Given the description of an element on the screen output the (x, y) to click on. 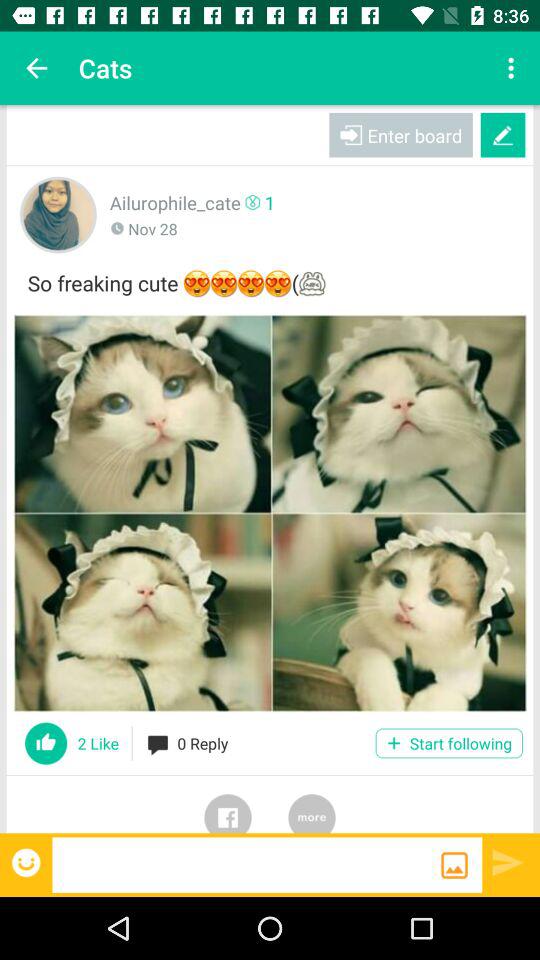
turn off the icon to the left of the cats (36, 68)
